Given the description of an element on the screen output the (x, y) to click on. 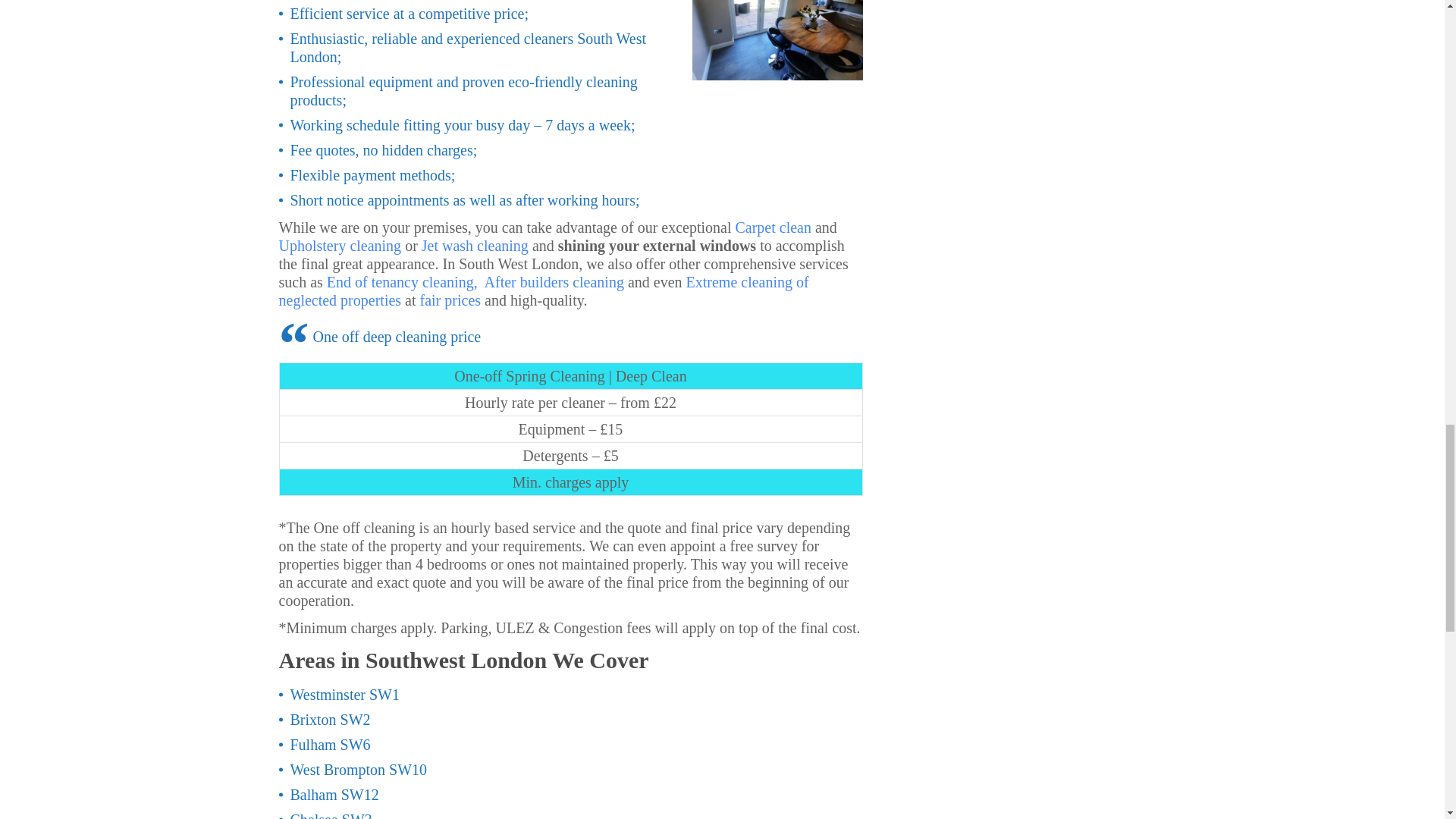
Extreme cleaning of neglected properties (544, 289)
End of tenancy cleaning, (401, 280)
fair prices (450, 299)
Upholstery cleaning (340, 244)
Carpet clean (772, 226)
Sparkle cleaning service London (776, 40)
Jet wash cleaning (475, 244)
After builders cleaning (554, 280)
